Given the description of an element on the screen output the (x, y) to click on. 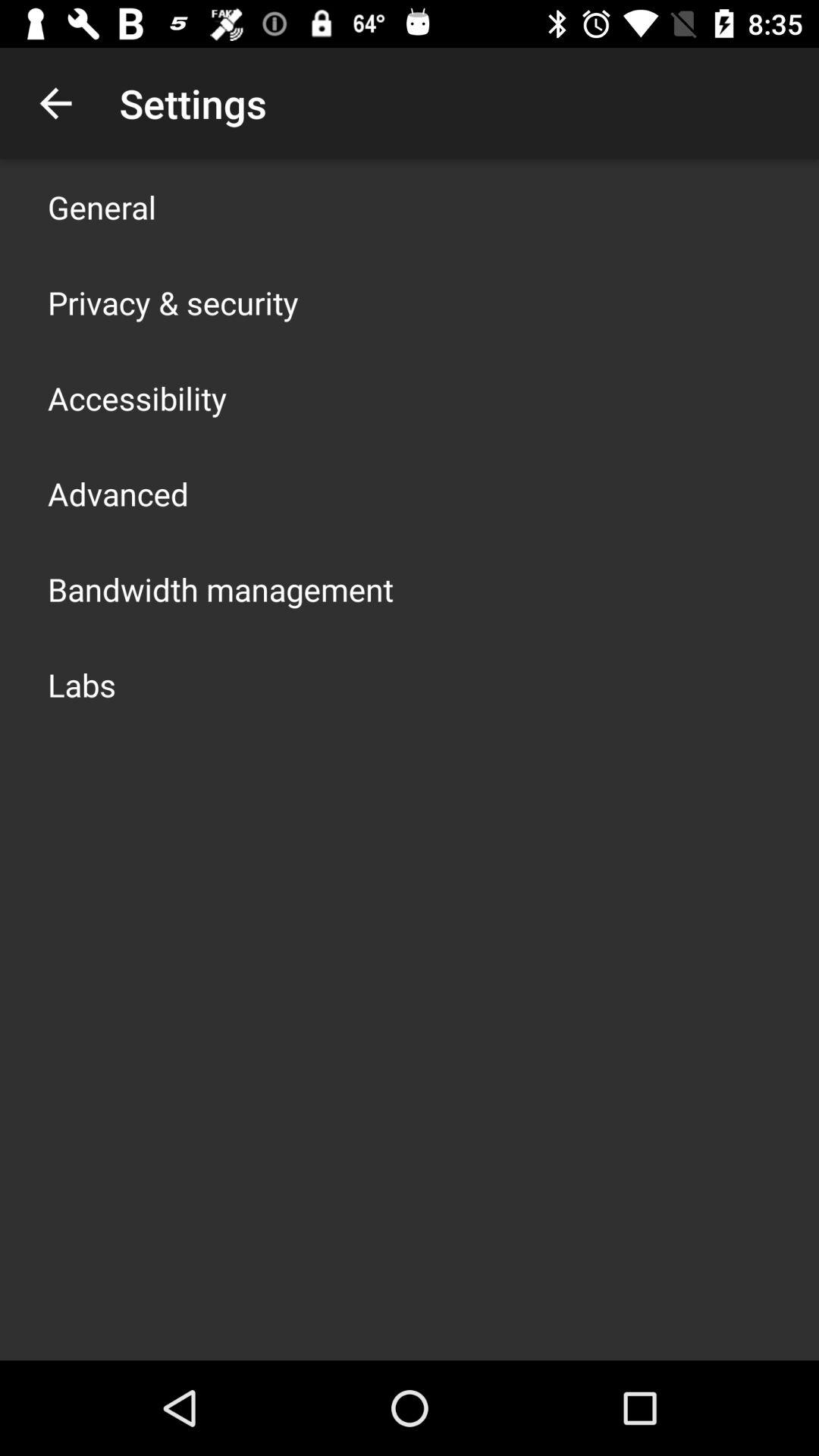
scroll until advanced item (117, 493)
